Given the description of an element on the screen output the (x, y) to click on. 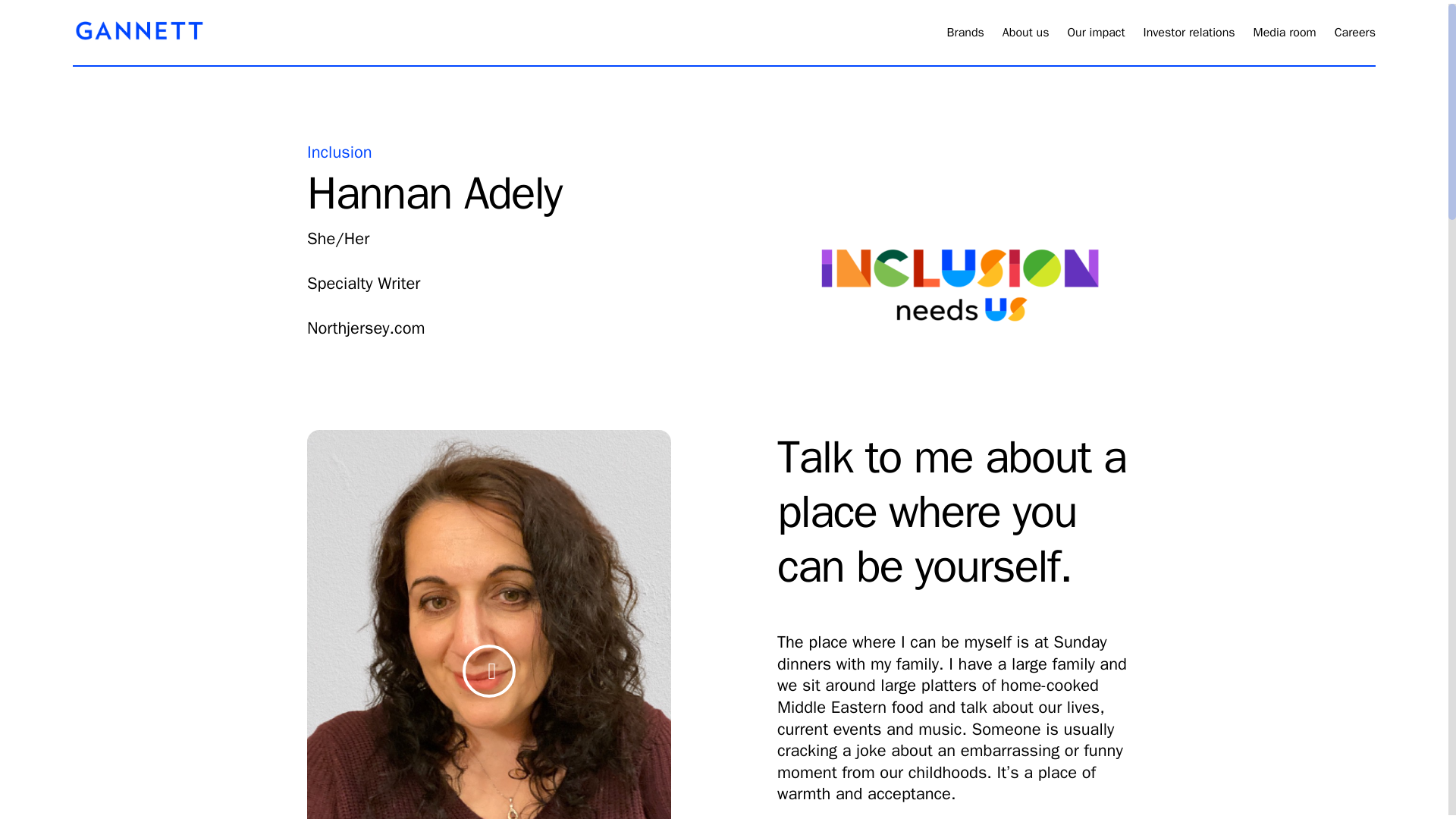
Media room (1284, 41)
Investor relations (1188, 41)
Our impact (1095, 41)
Gannett (139, 35)
About us (1026, 41)
